Given the description of an element on the screen output the (x, y) to click on. 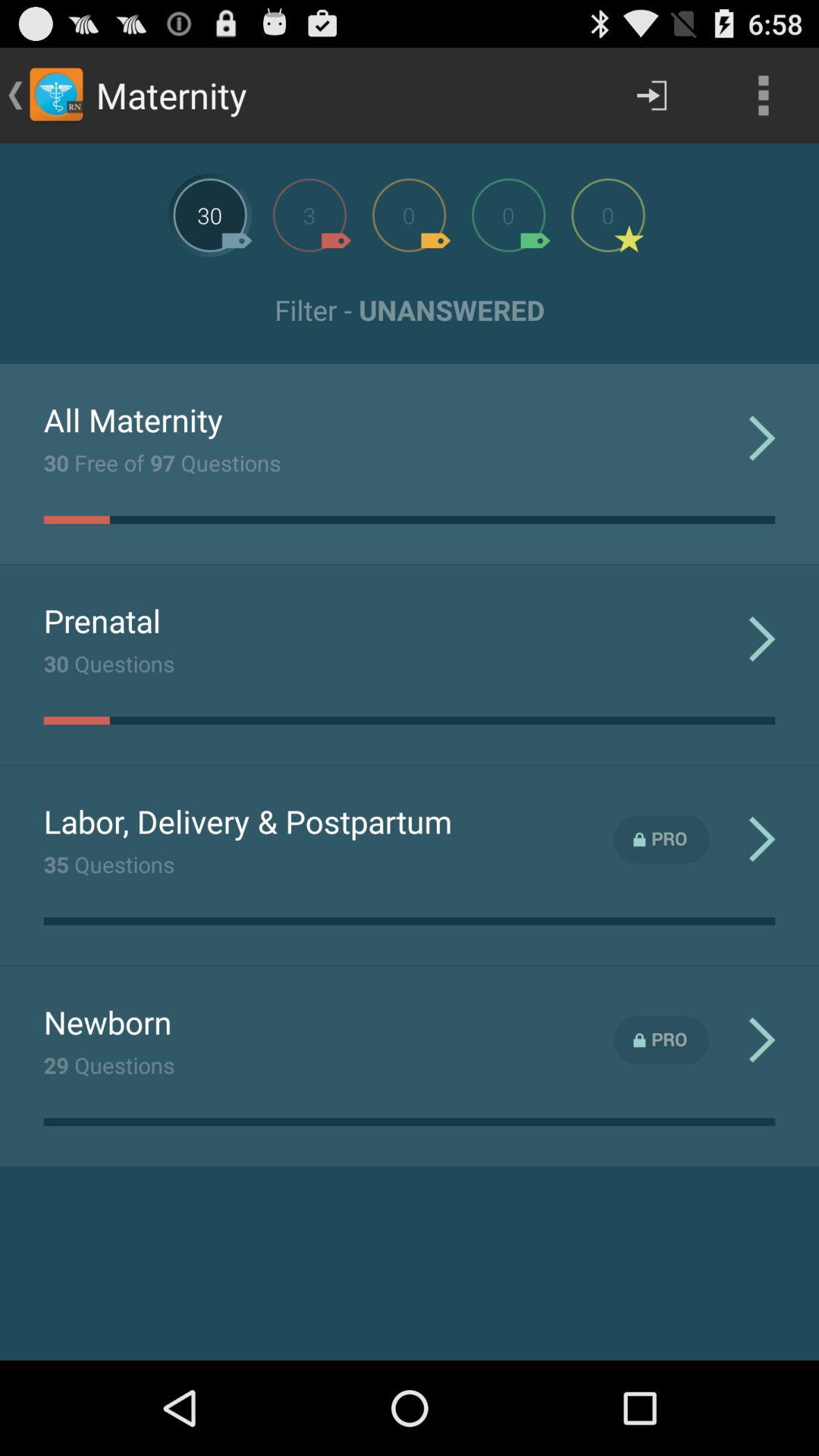
open other opcion (309, 215)
